Given the description of an element on the screen output the (x, y) to click on. 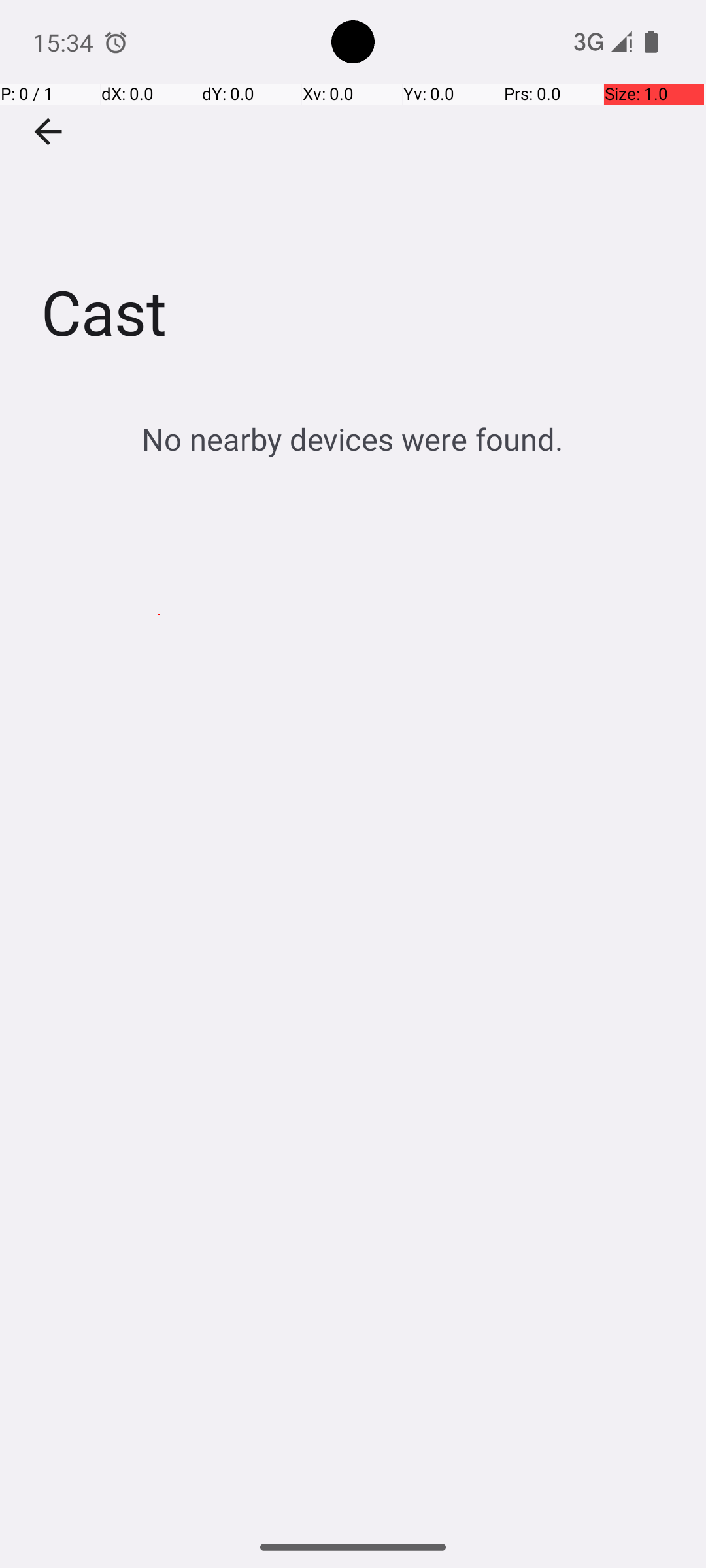
Cast Element type: android.widget.FrameLayout (353, 195)
No nearby devices were found. Element type: android.widget.TextView (352, 438)
